Given the description of an element on the screen output the (x, y) to click on. 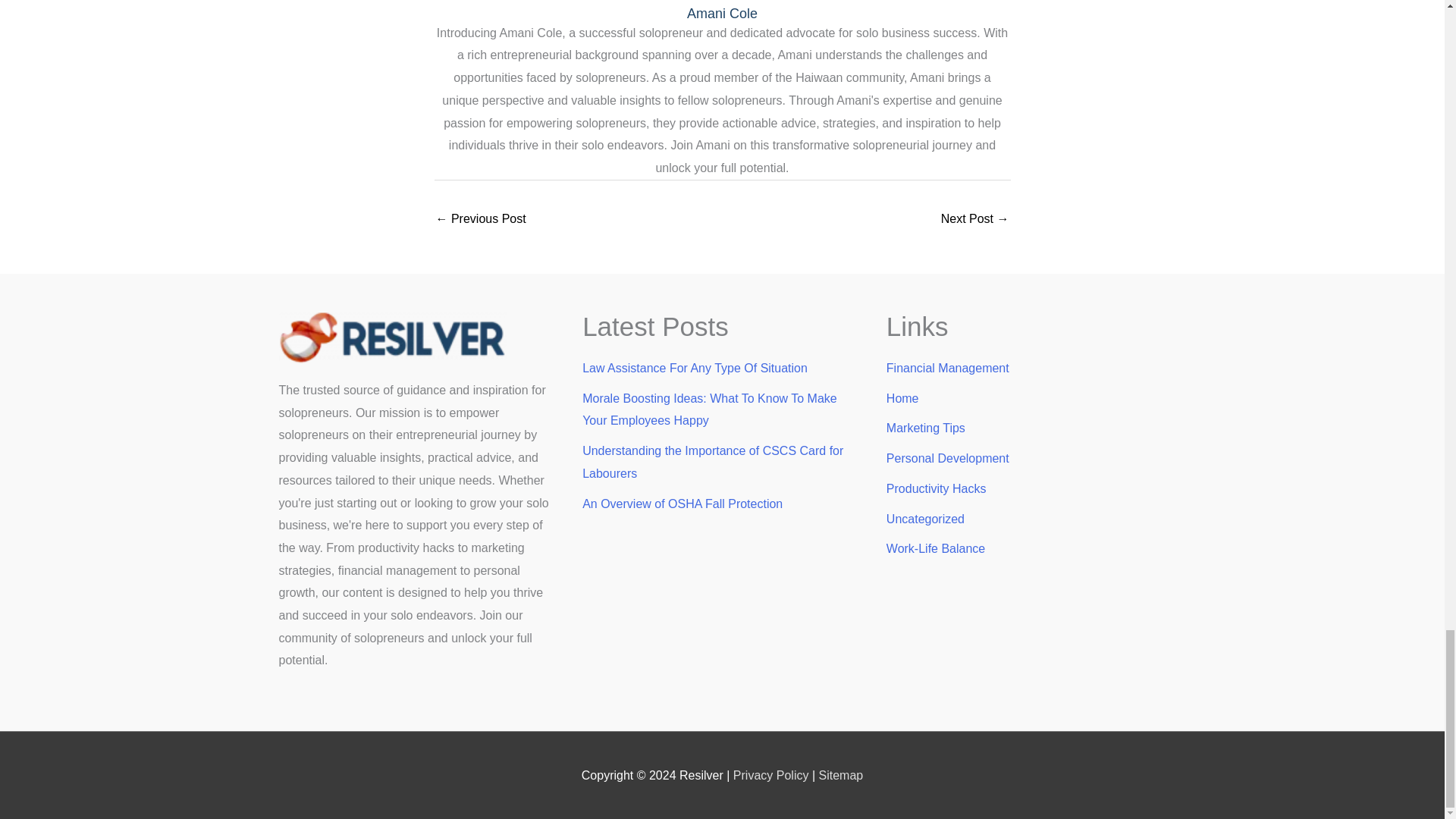
Amani Cole (721, 13)
Financial Management (947, 367)
Sitemap (840, 775)
Productivity Hacks (936, 488)
Personal Development (947, 458)
An Overview of OSHA Fall Protection (682, 503)
Uncategorized (924, 518)
Marketing Tips (925, 427)
Understanding the Importance of CSCS Card for Labourers (712, 461)
Home (902, 398)
Law Assistance For Any Type Of Situation (695, 367)
Work-Life Balance (935, 548)
